Given the description of an element on the screen output the (x, y) to click on. 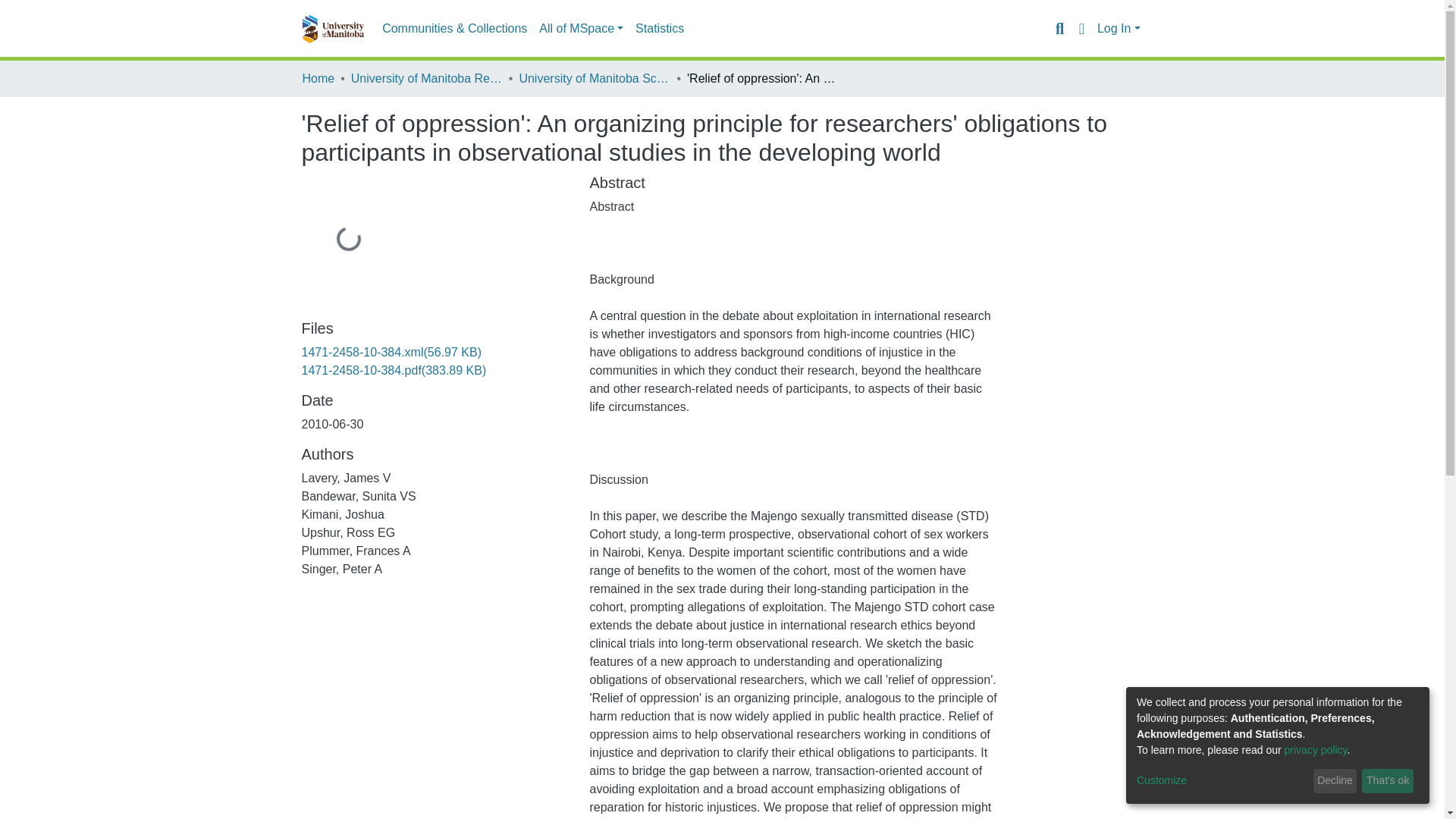
Search (1058, 28)
That's ok (1387, 781)
Statistics (659, 28)
University of Manitoba Researchers (426, 78)
Customize (1222, 780)
All of MSpace (580, 28)
University of Manitoba Scholarship (593, 78)
Statistics (659, 28)
Home (317, 78)
Language switch (1081, 28)
Log In (1118, 28)
privacy policy (1316, 749)
Decline (1334, 781)
